Given the description of an element on the screen output the (x, y) to click on. 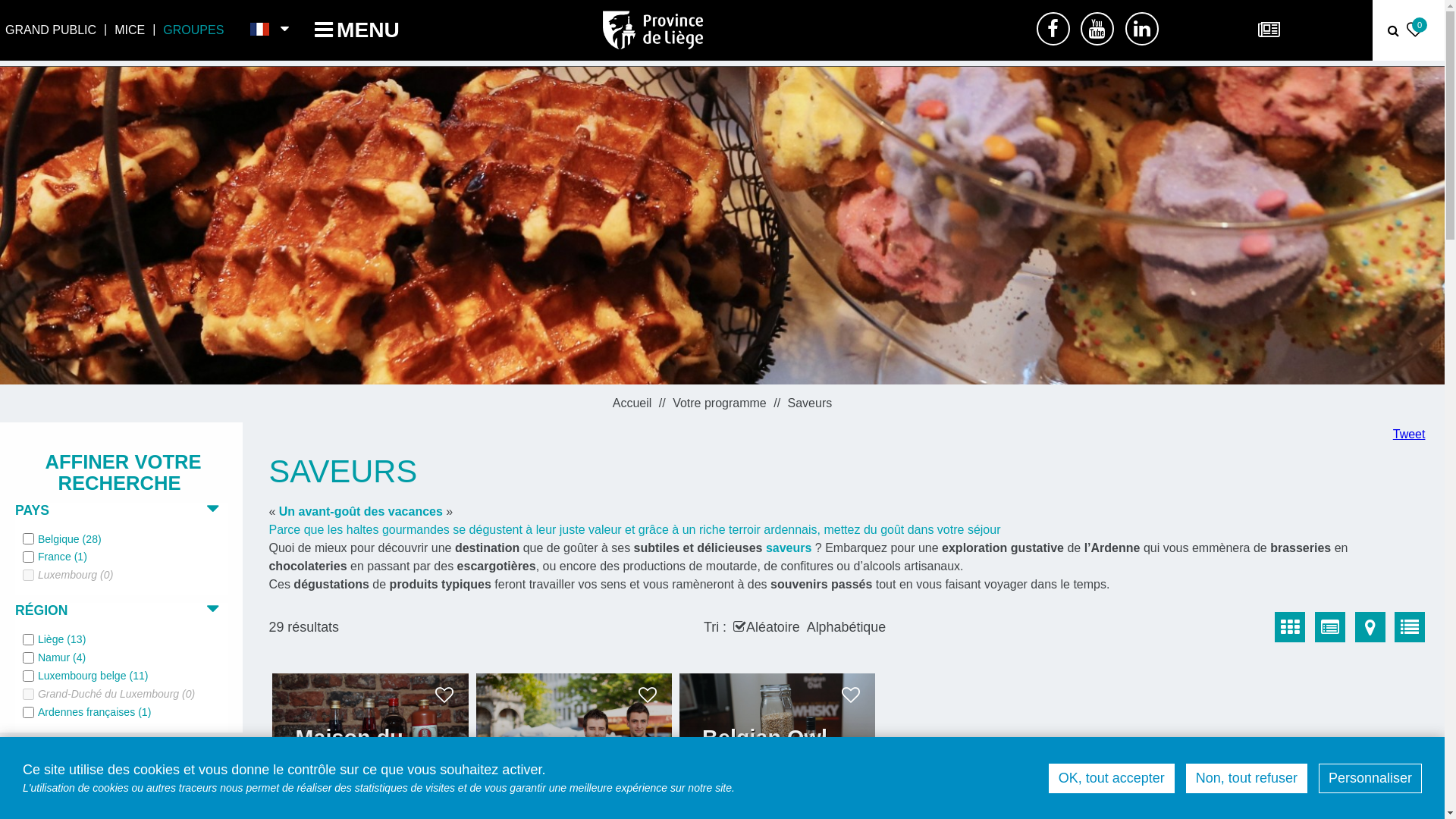
Vignette Element type: hover (1289, 626)
Accueil Element type: text (633, 402)
Non, tout refuser Element type: text (1246, 777)
Personnaliser Element type: text (1369, 777)
Tweet Element type: text (1409, 433)
Votre programme Element type: text (720, 402)
GRAND PUBLIC Element type: text (50, 30)
MICE Element type: text (129, 30)
Brasserie C Element type: text (559, 759)
0 Element type: text (1416, 31)
MENU Element type: text (356, 29)
Maison du Peket Element type: text (377, 749)
Belgian Owl Distillery Element type: text (784, 749)
OK, tout accepter Element type: text (1111, 777)
Affichage carte Element type: hover (1370, 626)
GROUPES Element type: text (193, 30)
